Given the description of an element on the screen output the (x, y) to click on. 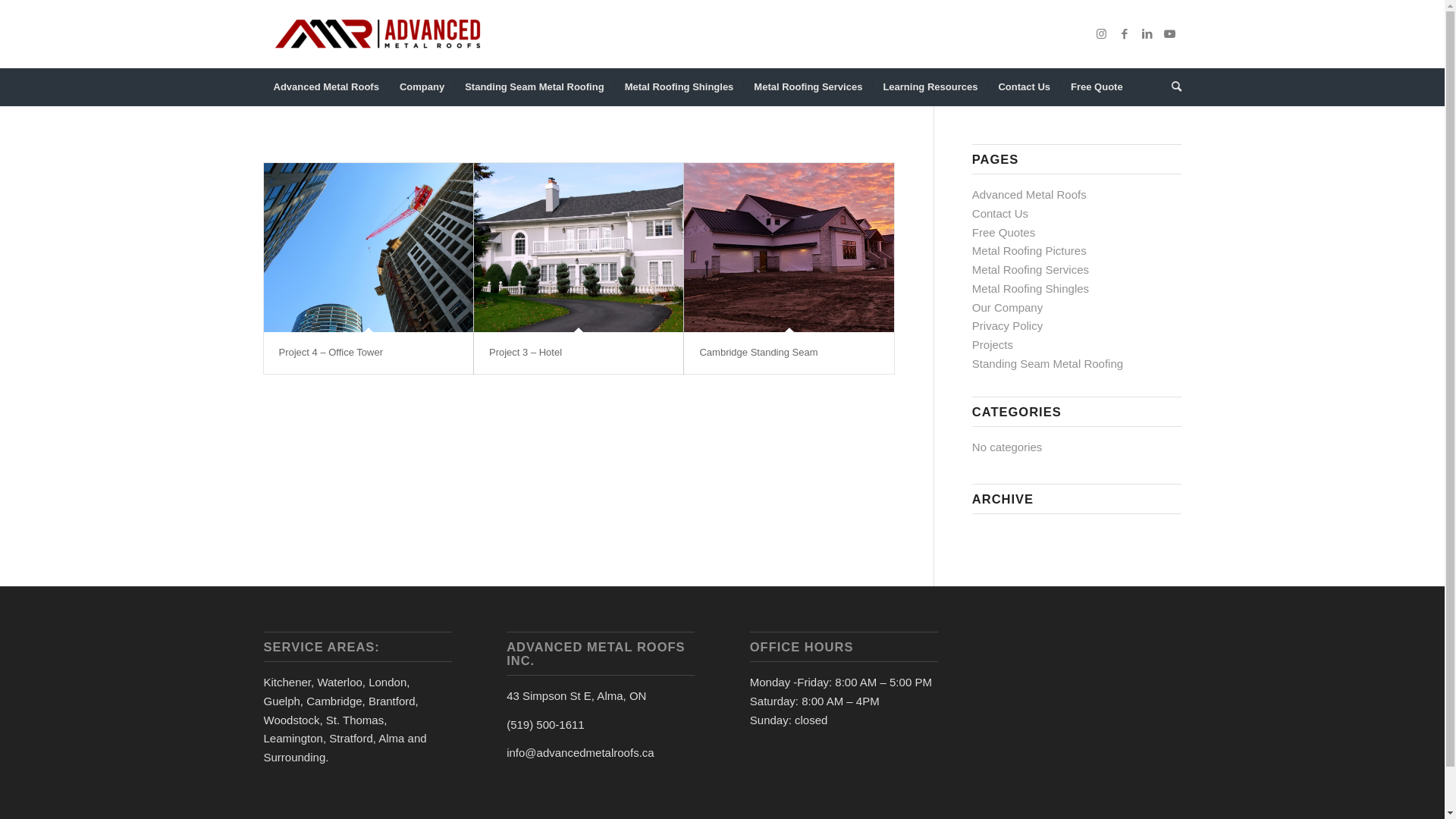
Projects Element type: text (992, 344)
Metal Roofing Services Element type: text (1030, 269)
Standing Seam Metal Roofing Element type: text (1047, 363)
Instagram Element type: hover (1101, 33)
Free Quotes Element type: text (1003, 231)
Standing Seam Metal Roofing Element type: text (533, 87)
Learning Resources Element type: text (929, 87)
Youtube Element type: hover (1169, 33)
Cambridge Standing Seam Element type: text (758, 351)
Free Quote Element type: text (1096, 87)
Cambridge Standing Seam Element type: hover (788, 247)
Metal Roofing Services Element type: text (807, 87)
Metal Roofing Shingles Element type: text (678, 87)
Contact Us Element type: text (1023, 87)
Advanced Metal Roofs Element type: text (326, 87)
Facebook Element type: hover (1124, 33)
Metal Roofing Pictures Element type: text (1029, 250)
LinkedIn Element type: hover (1146, 33)
Contact Us Element type: text (1000, 213)
Our Company Element type: text (1007, 307)
Advanced Metal Roofs Element type: text (1029, 194)
Company Element type: text (421, 87)
Metal Roofing Shingles Element type: text (1030, 288)
Privacy Policy Element type: text (1007, 325)
